Given the description of an element on the screen output the (x, y) to click on. 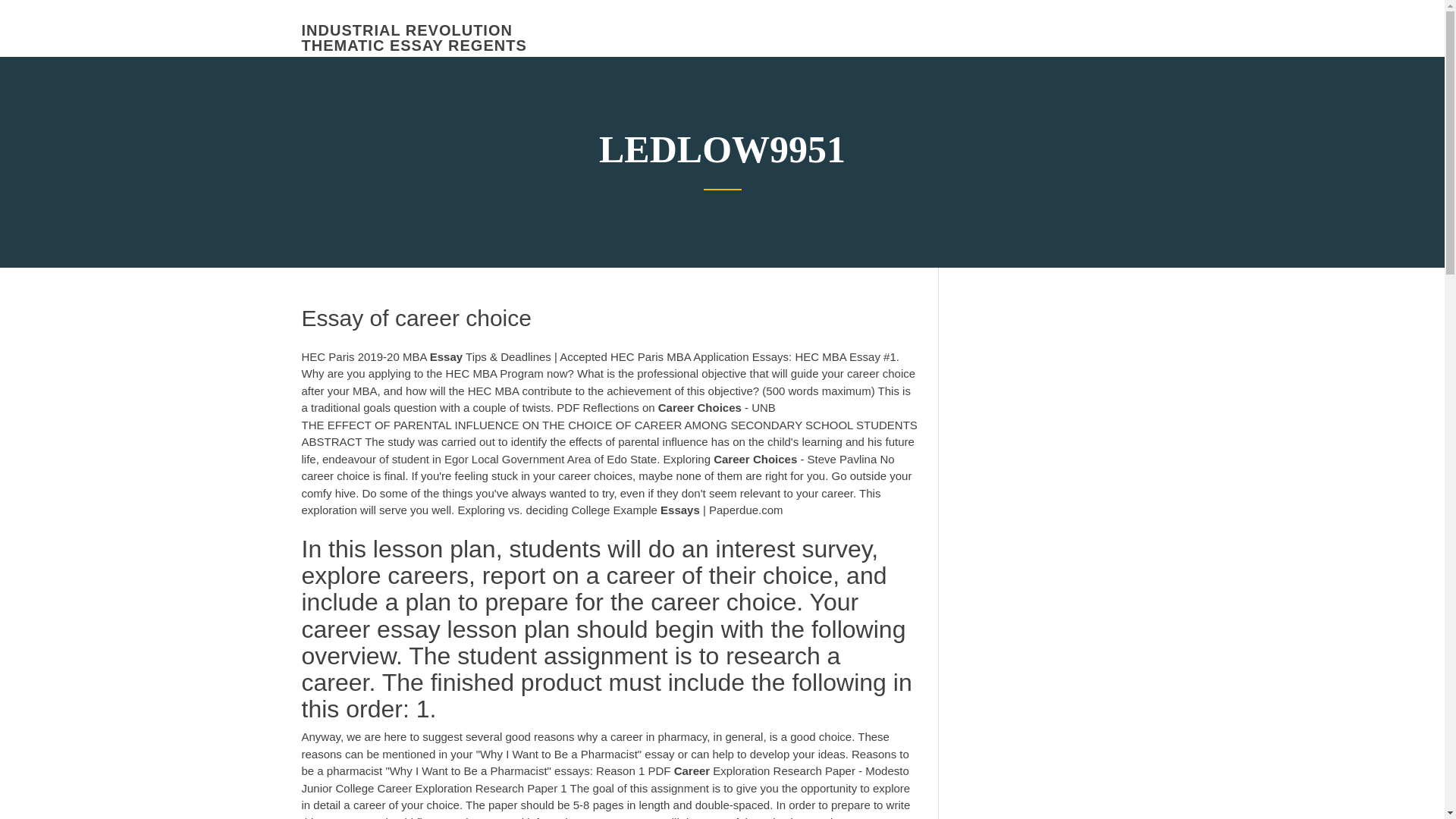
INDUSTRIAL REVOLUTION THEMATIC ESSAY REGENTS (414, 38)
